Given the description of an element on the screen output the (x, y) to click on. 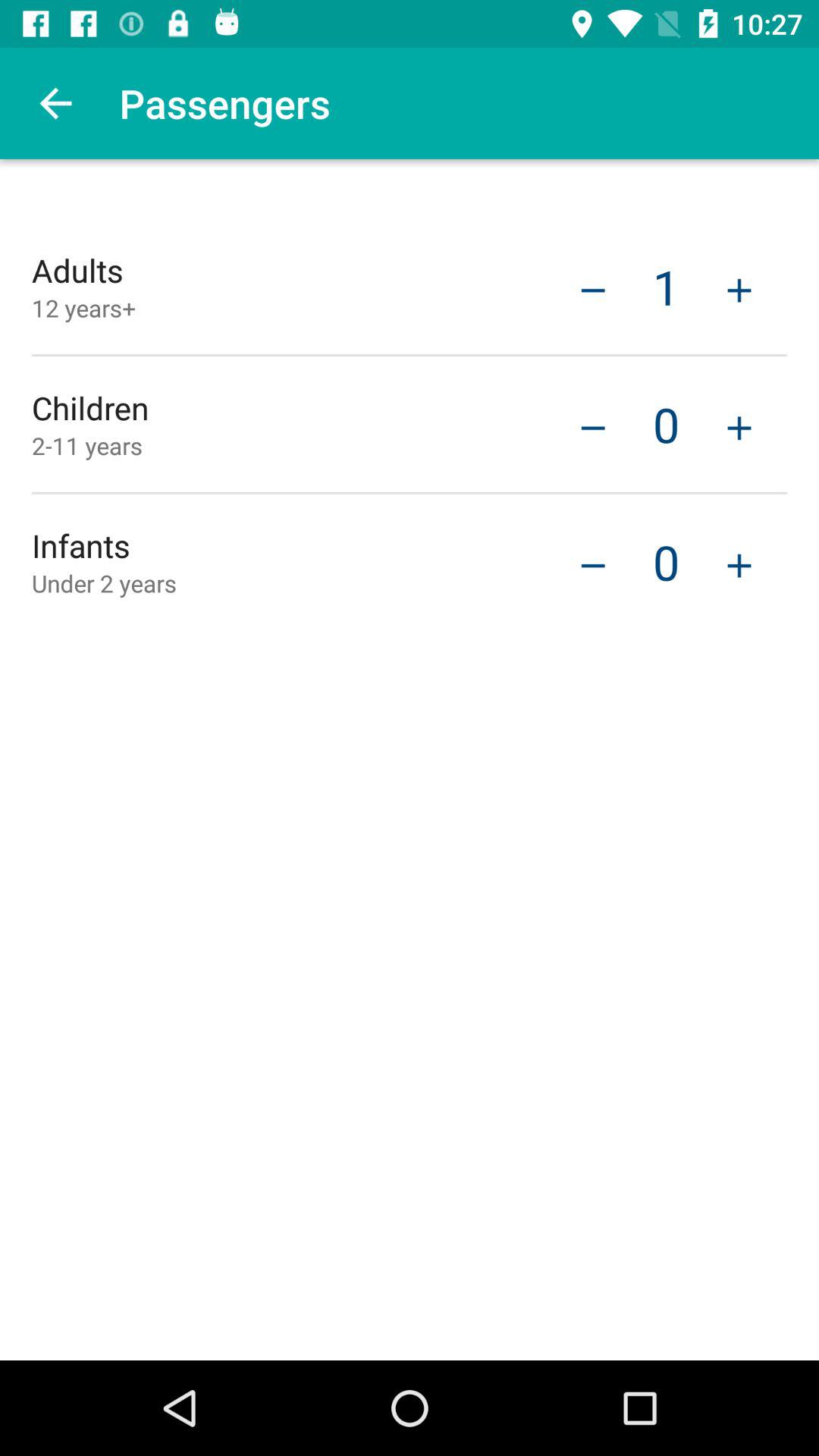
press the item next to 0 icon (739, 563)
